Given the description of an element on the screen output the (x, y) to click on. 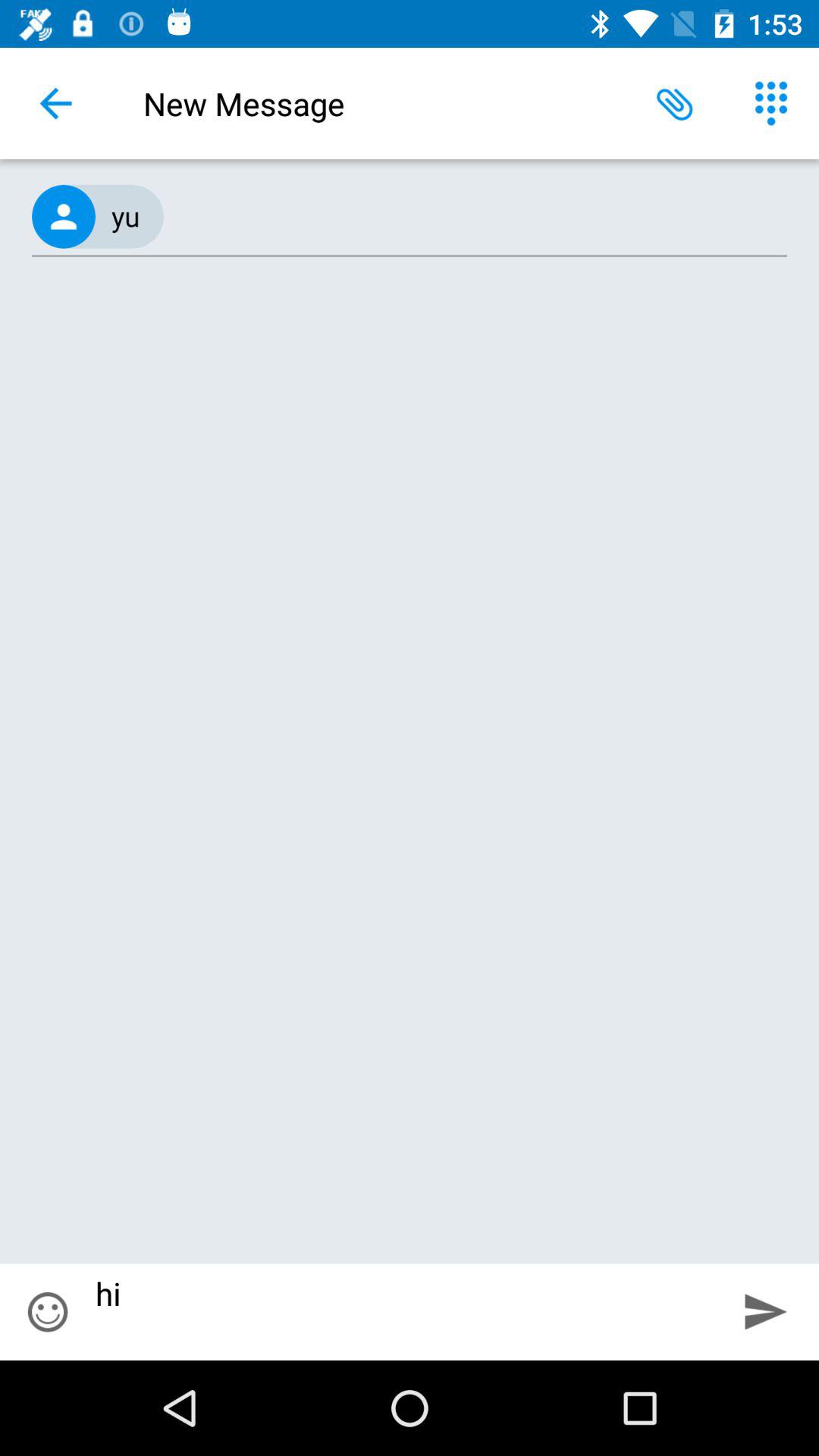
choose the item to the left of the new message icon (55, 103)
